Given the description of an element on the screen output the (x, y) to click on. 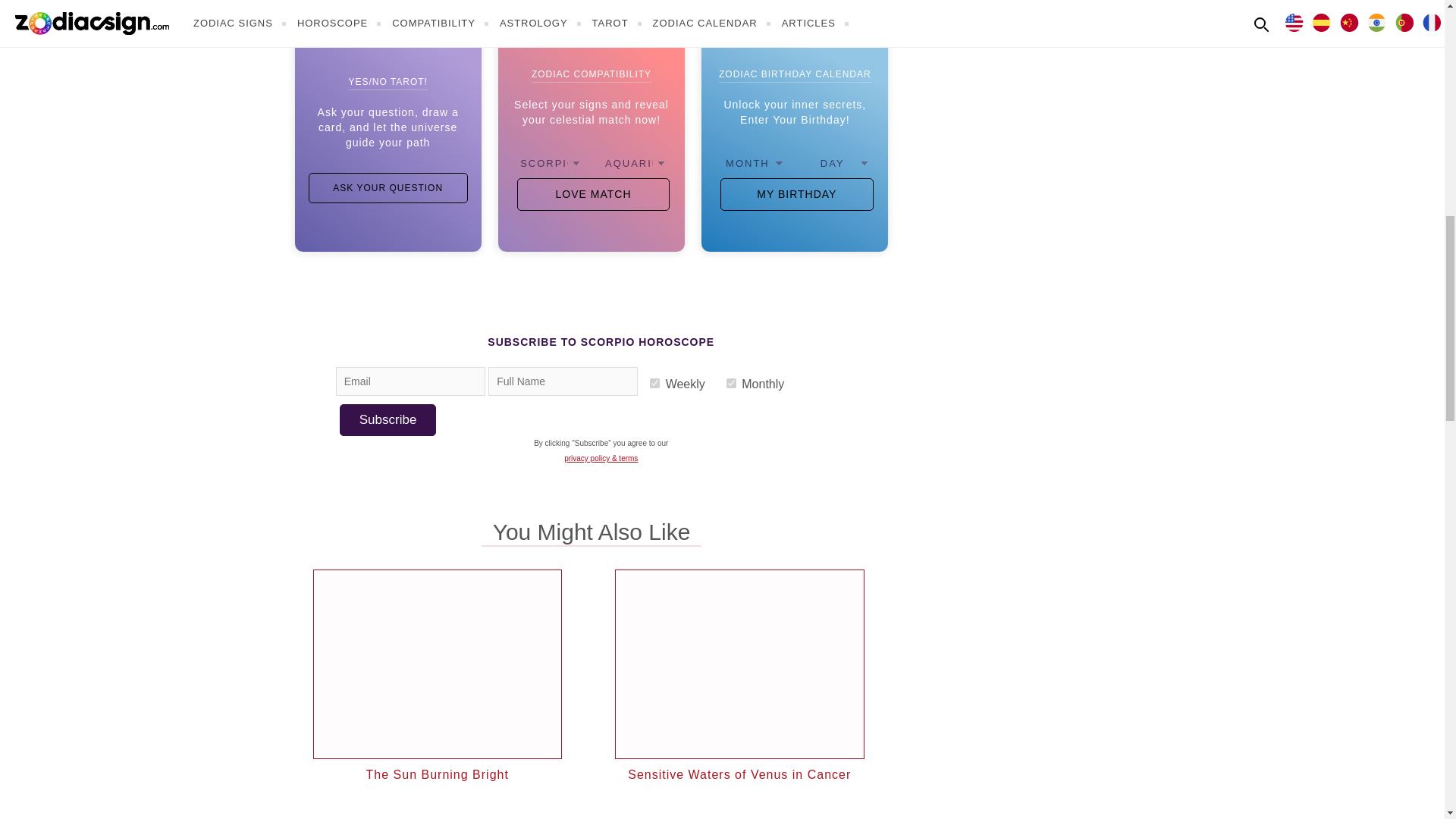
monthly (731, 383)
weekly (654, 383)
